Given the description of an element on the screen output the (x, y) to click on. 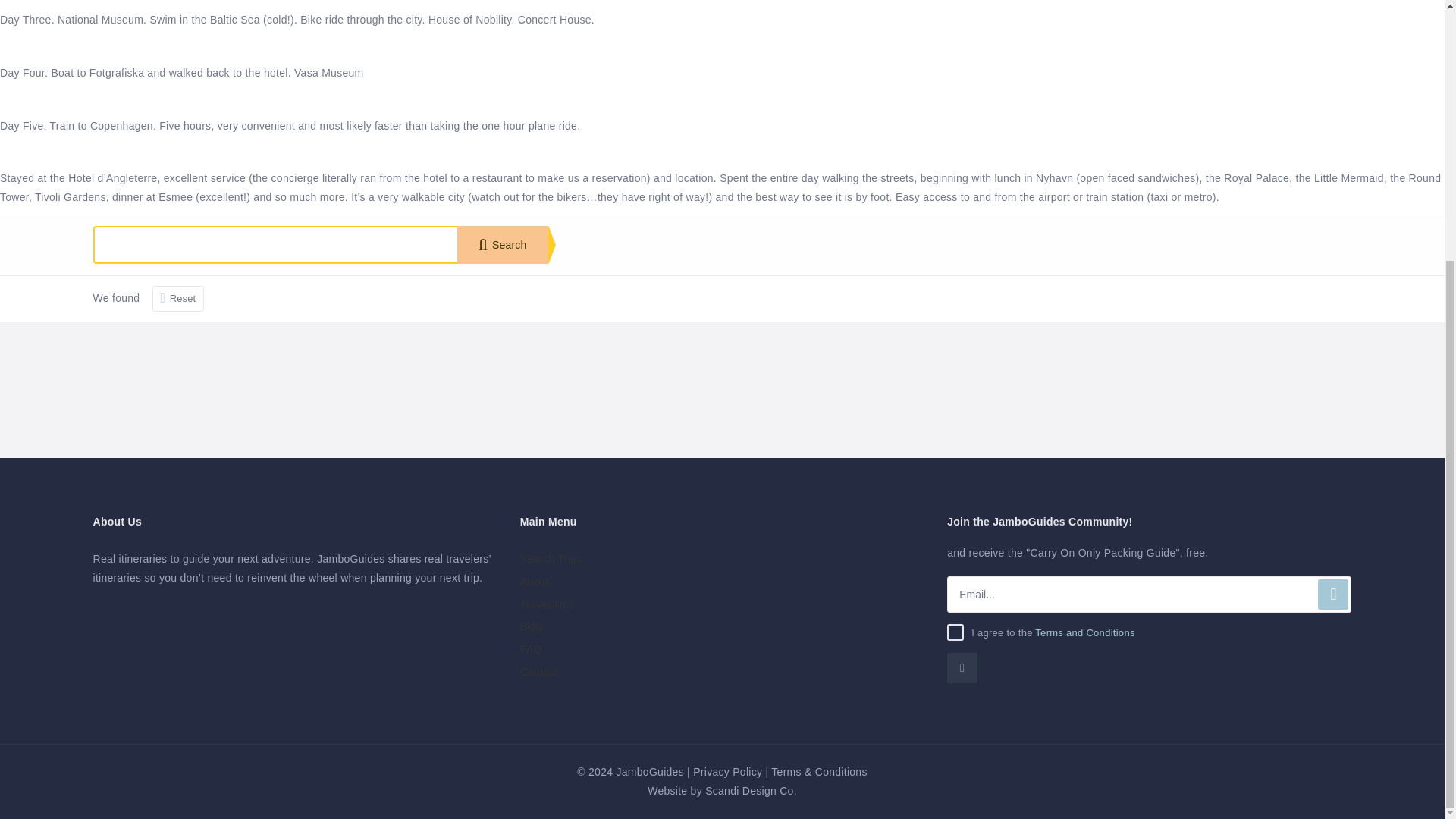
About (533, 581)
FAQ (530, 648)
Blog (530, 625)
Reset (178, 298)
Search Trips (550, 558)
Privacy Policy (727, 771)
Contact (538, 671)
Scandi Design Co. (750, 790)
Terms and Conditions (1084, 632)
Search (502, 244)
